Given the description of an element on the screen output the (x, y) to click on. 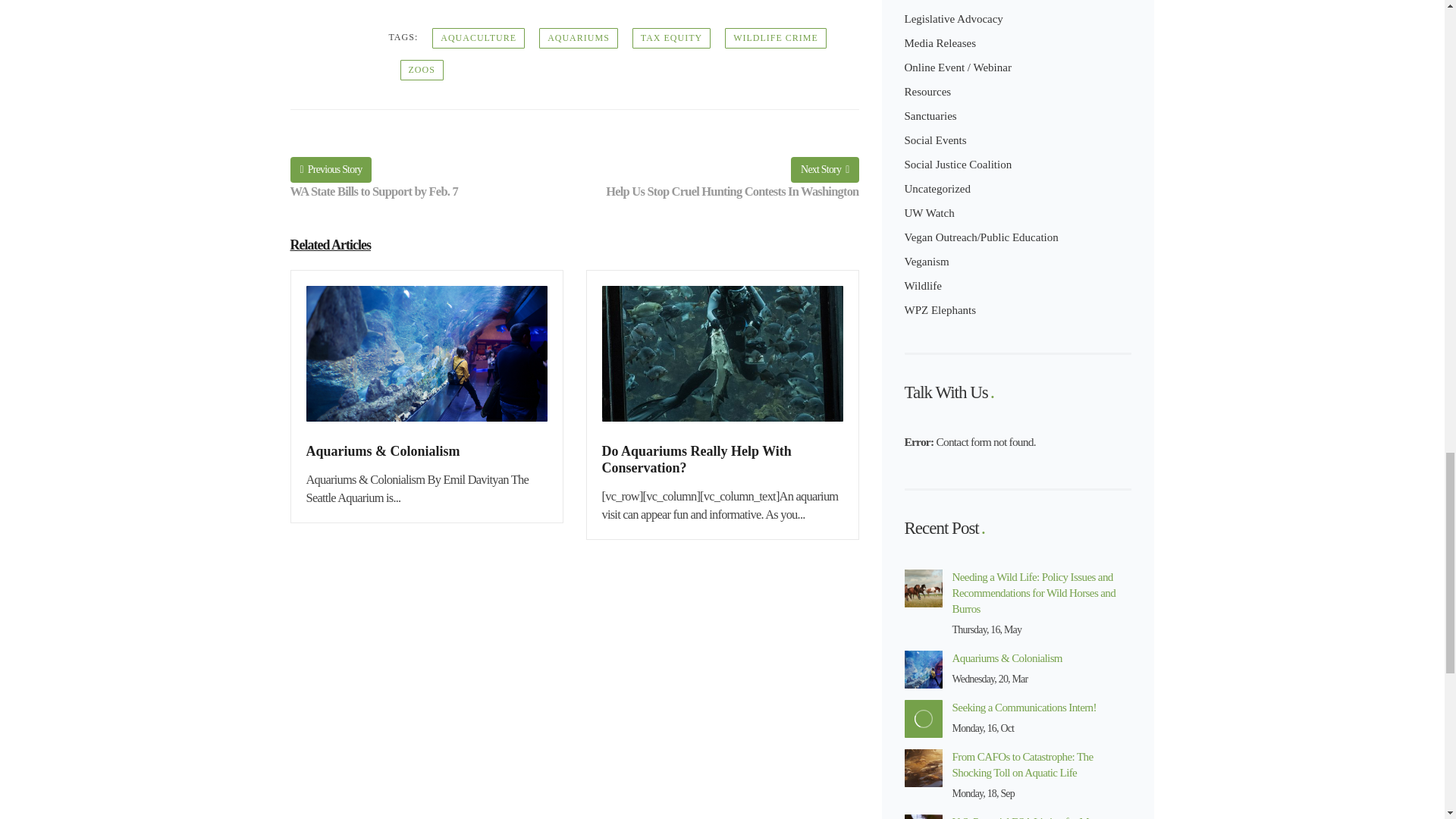
Do Aquariums Really Help With Conservation? (722, 363)
